Given the description of an element on the screen output the (x, y) to click on. 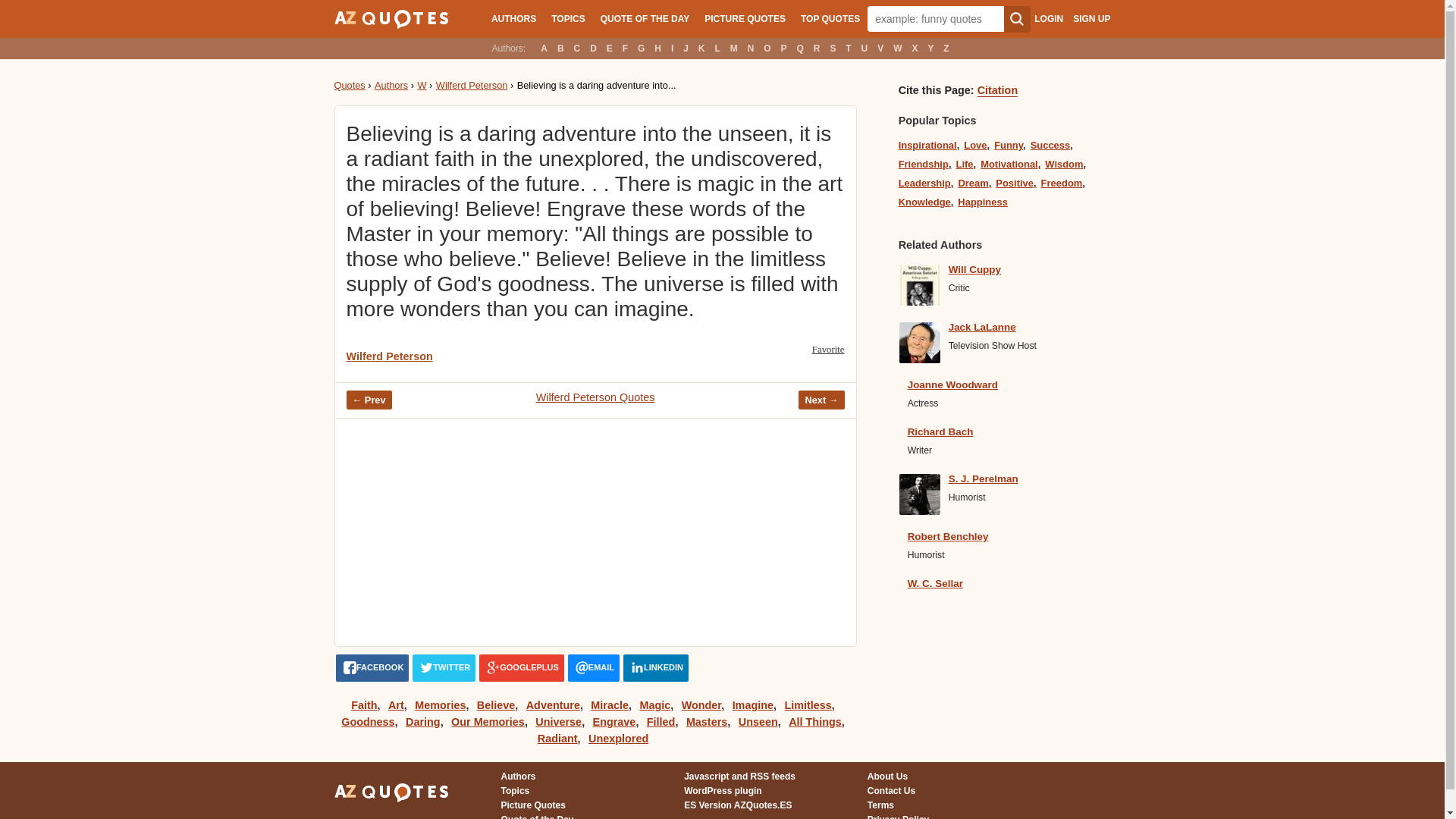
SIGN UP (1091, 18)
QUOTE OF THE DAY (644, 18)
LOGIN (1047, 18)
AUTHORS (513, 18)
TOP QUOTES (830, 18)
Quotes (349, 84)
TOPICS (567, 18)
PICTURE QUOTES (745, 18)
